Given the description of an element on the screen output the (x, y) to click on. 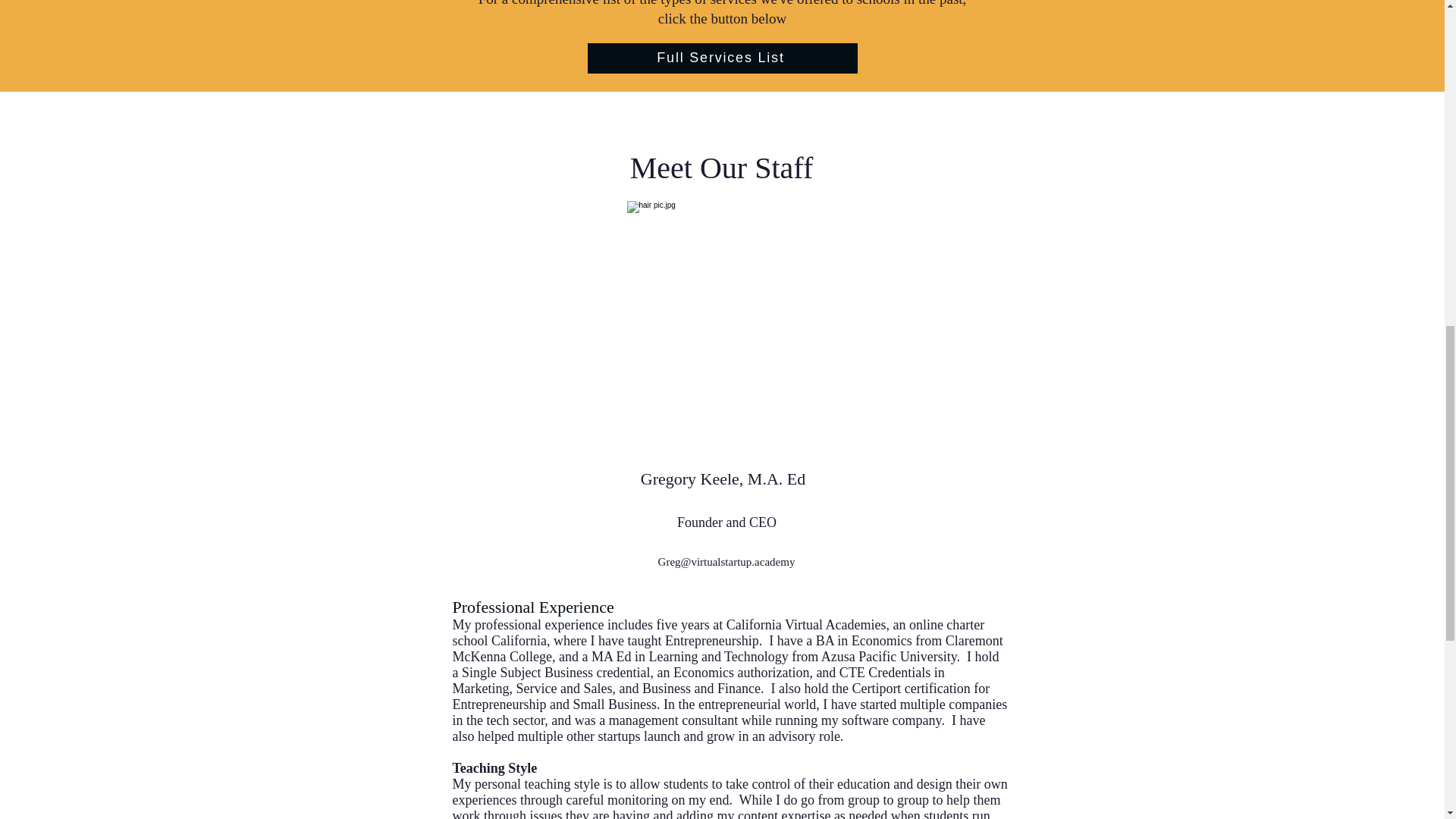
Full Services List (721, 58)
